Given the description of an element on the screen output the (x, y) to click on. 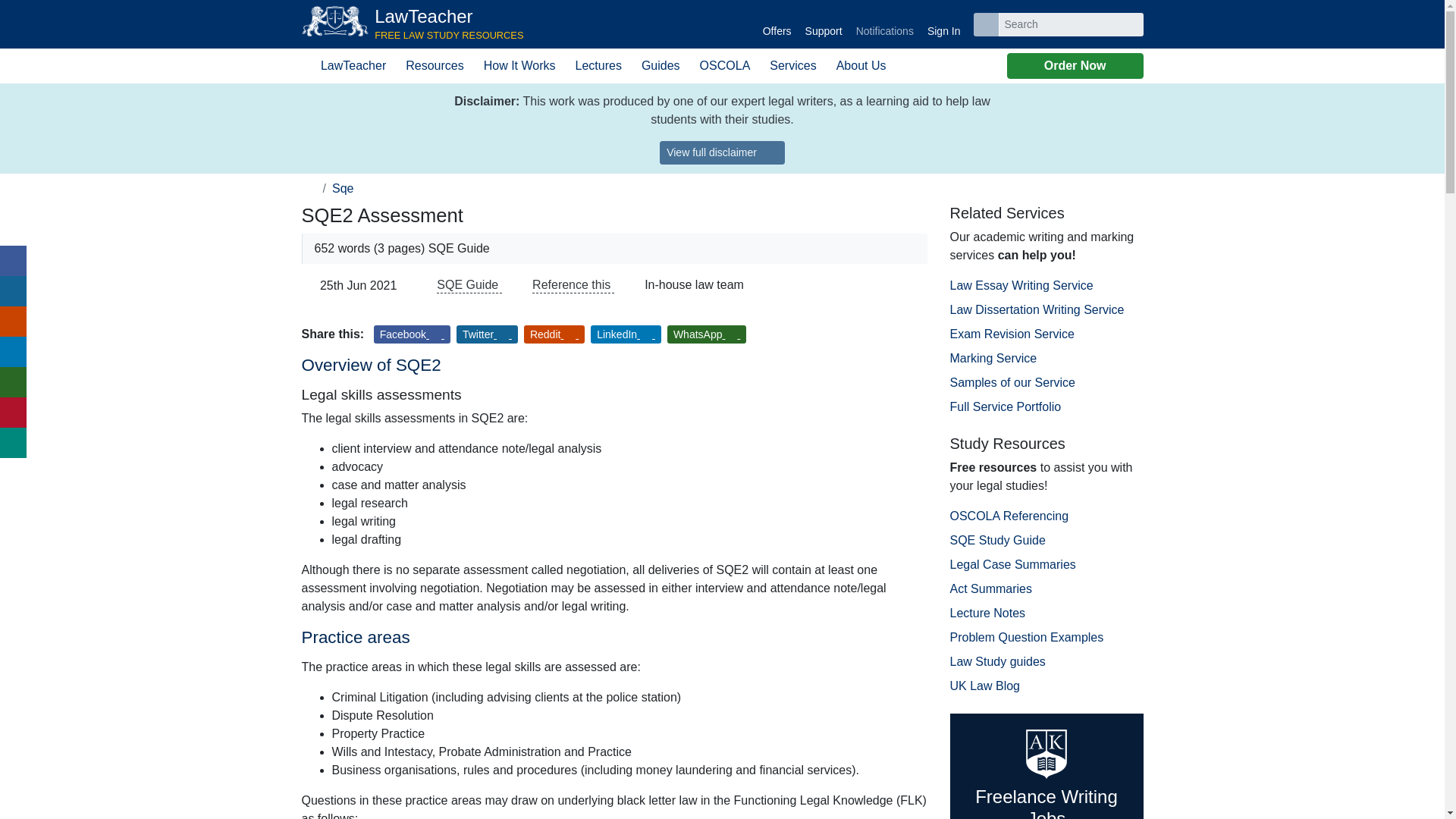
Support (822, 23)
View full disclaimer (721, 152)
Offers (776, 23)
Sign In (944, 23)
Go to the LawTeacher homepage (412, 23)
homepage link (412, 23)
Notifications (309, 187)
